Given the description of an element on the screen output the (x, y) to click on. 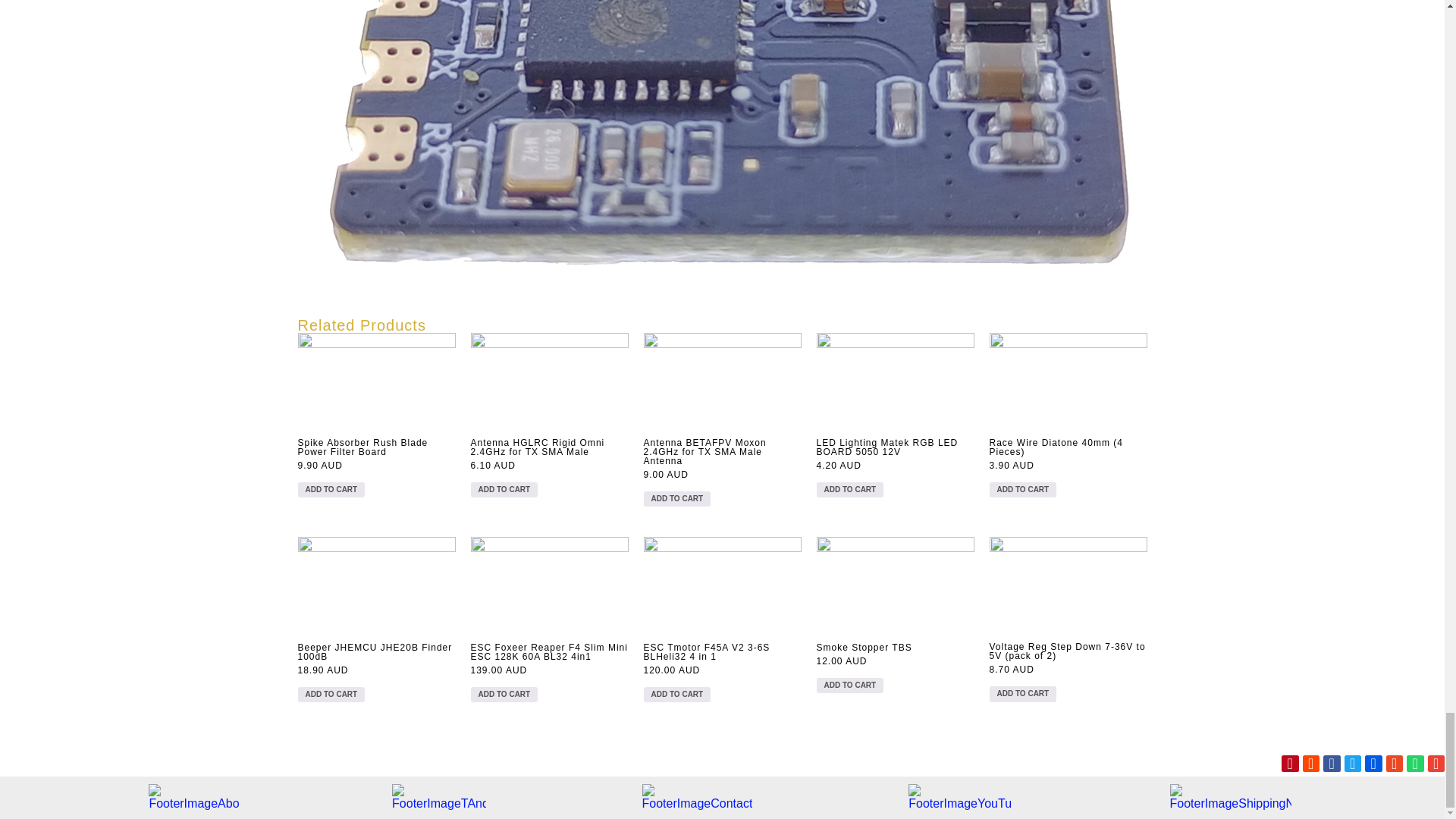
FooterImageYouTube (959, 796)
FooterImageAbout (193, 796)
FooterImageContactUs (697, 796)
FooterImageTAndC (438, 796)
FooterImageShippingNew (1231, 796)
